Given the description of an element on the screen output the (x, y) to click on. 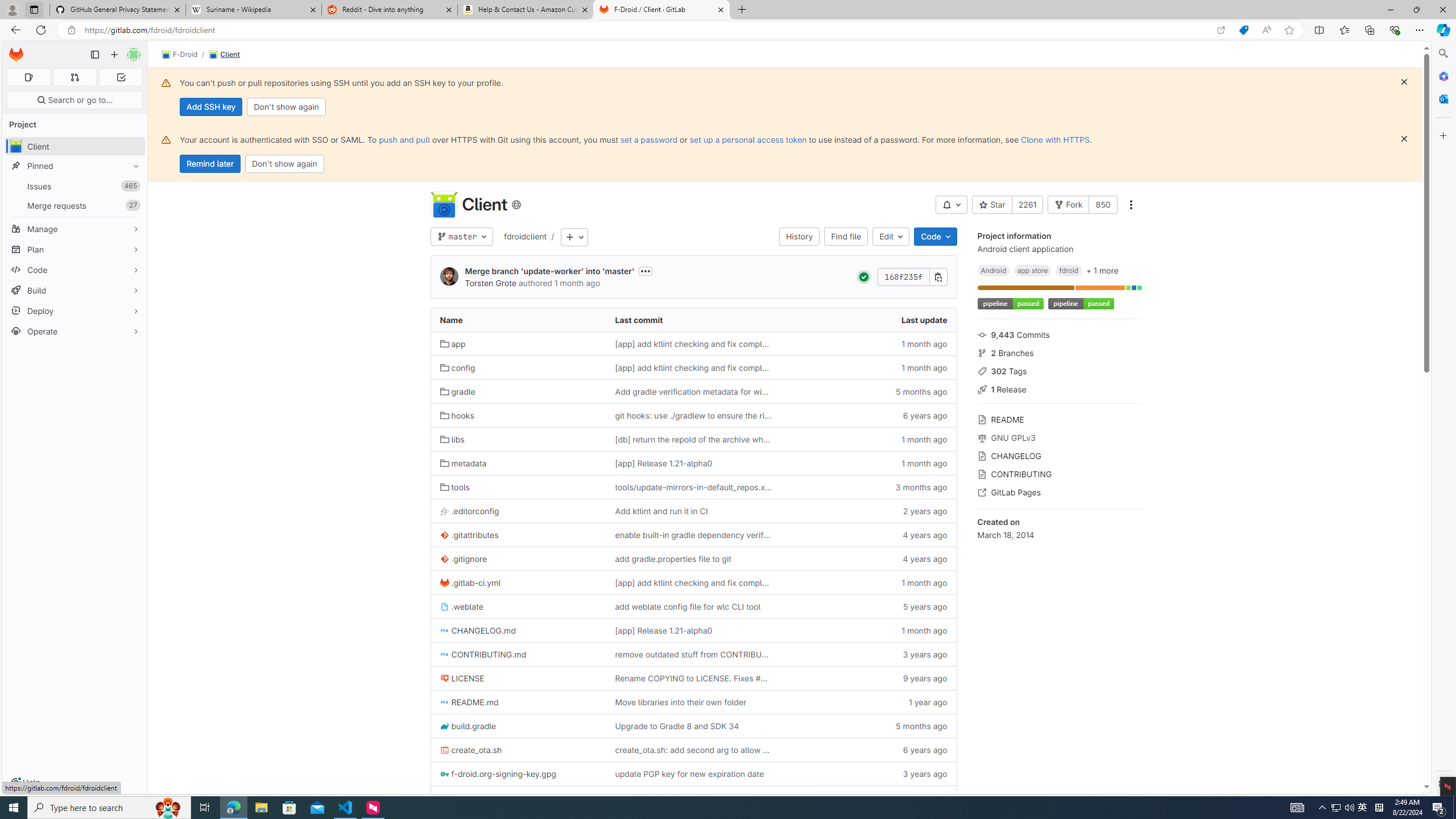
app store (1032, 269)
Last commit (693, 319)
850 (1103, 204)
gradle.properties (477, 797)
Clone with HTTPS (1054, 139)
Remind later (210, 163)
Edit (891, 236)
Plan (74, 248)
CHANGELOG.md (477, 630)
Class: s16 icon (516, 204)
metadata (517, 463)
Issues 465 (74, 185)
